Given the description of an element on the screen output the (x, y) to click on. 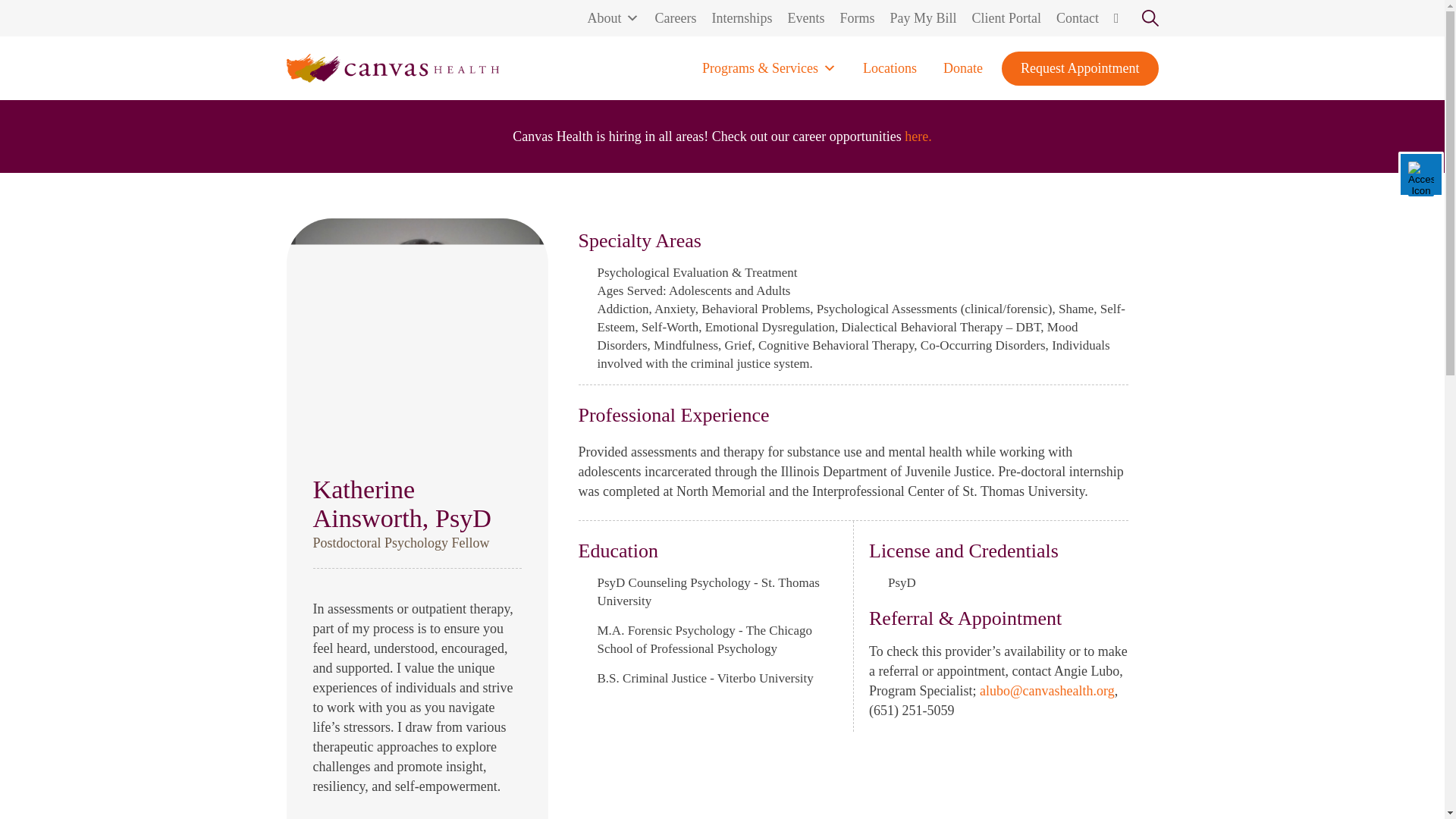
Careers (674, 18)
About (612, 18)
Internships (740, 18)
Contact (1077, 18)
Forms (856, 18)
Events (804, 18)
Client Portal (1005, 18)
Pay My Bill (922, 18)
